Given the description of an element on the screen output the (x, y) to click on. 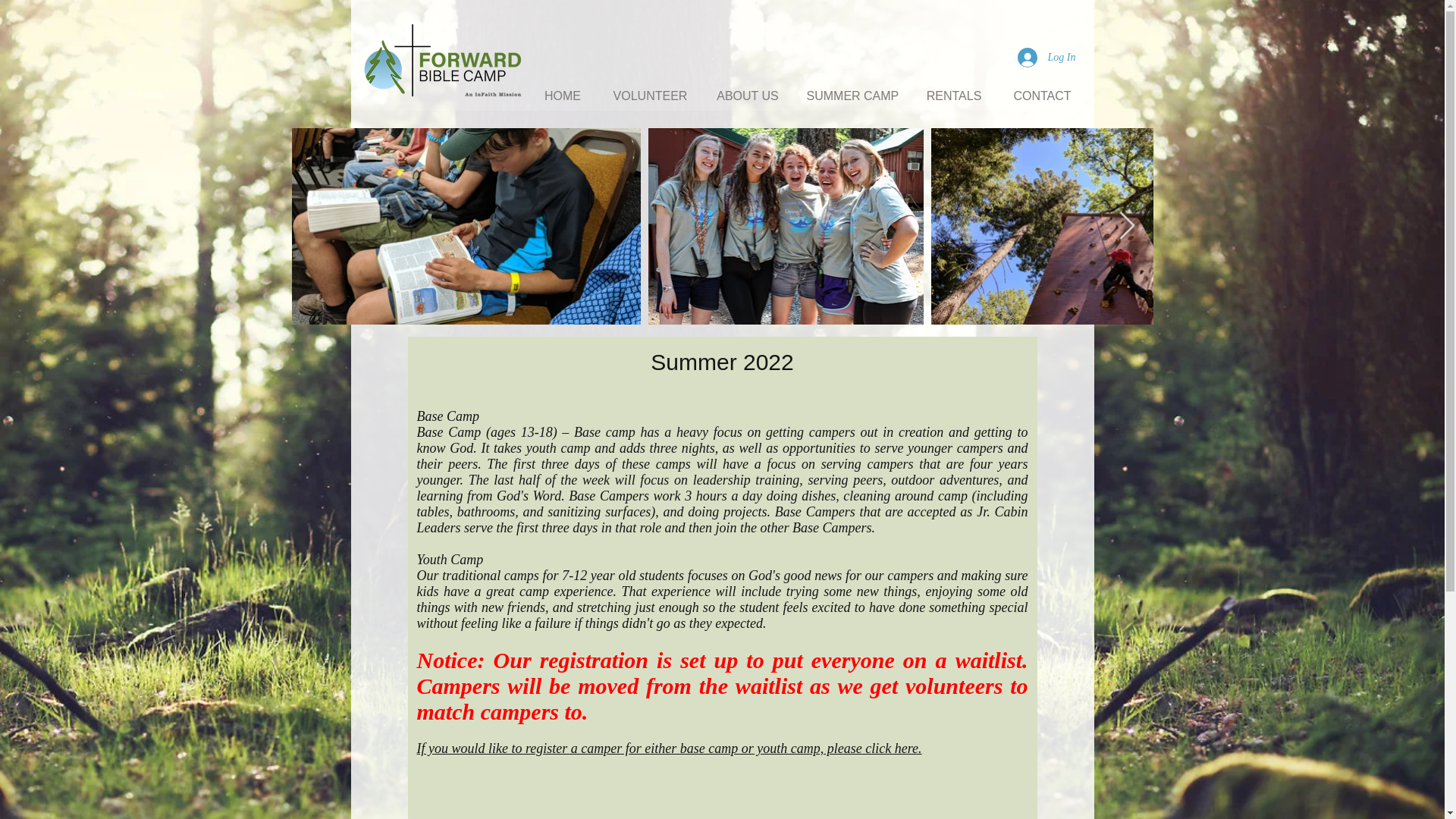
Log In (1046, 57)
VOLUNTEER (649, 95)
HOME (562, 95)
RENTALS (953, 95)
SUMMER CAMP (852, 95)
CONTACT (1041, 95)
ABOUT US (747, 95)
